Given the description of an element on the screen output the (x, y) to click on. 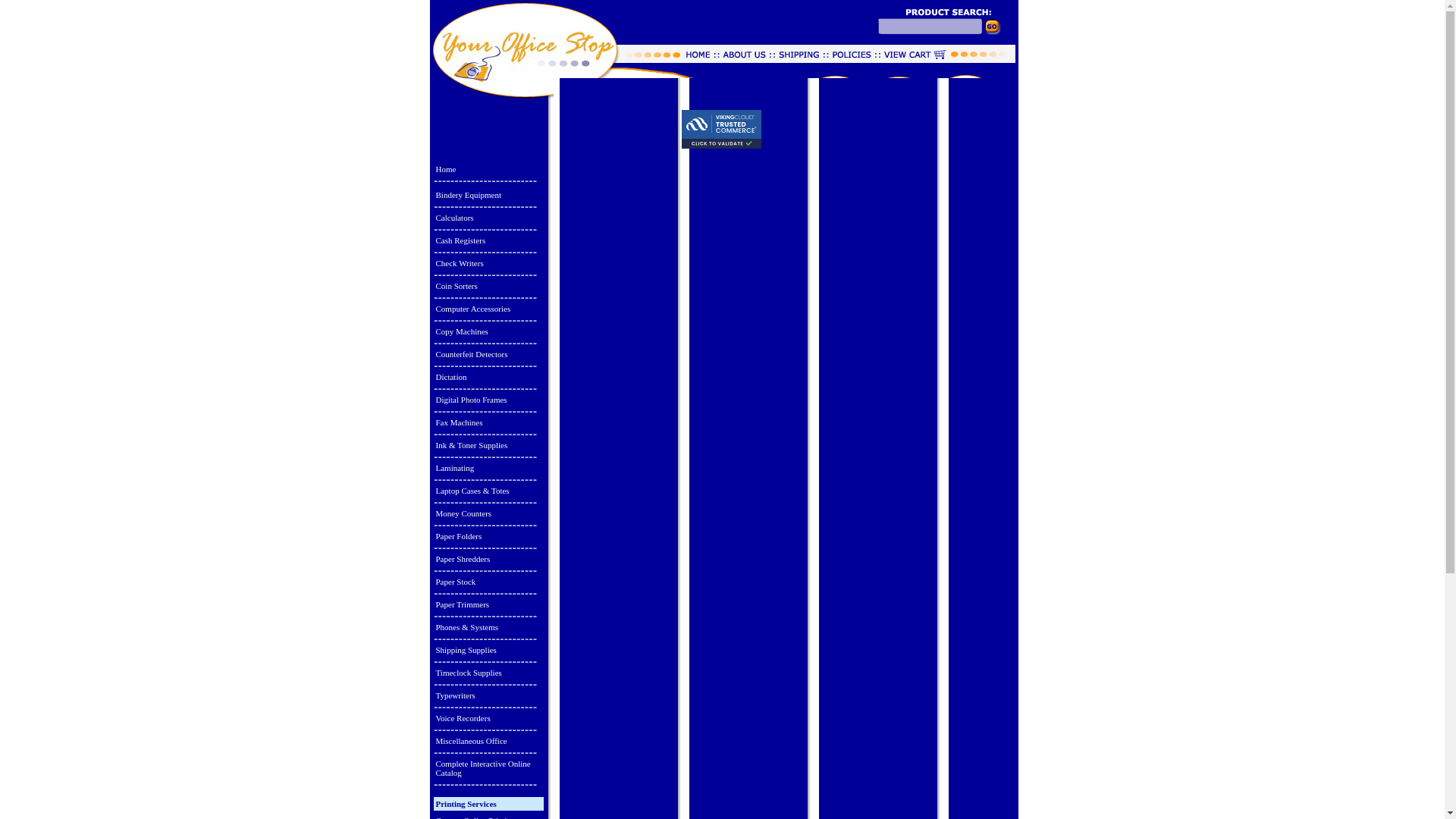
Coin Sorters (487, 285)
search (999, 31)
Computer Accessories (487, 308)
Paper Trimmers (487, 604)
Digital Photo Frames (487, 399)
Cash Registers (487, 240)
Voice Recorders (487, 717)
Money Counters (487, 513)
Paper Folders (487, 535)
